Given the description of an element on the screen output the (x, y) to click on. 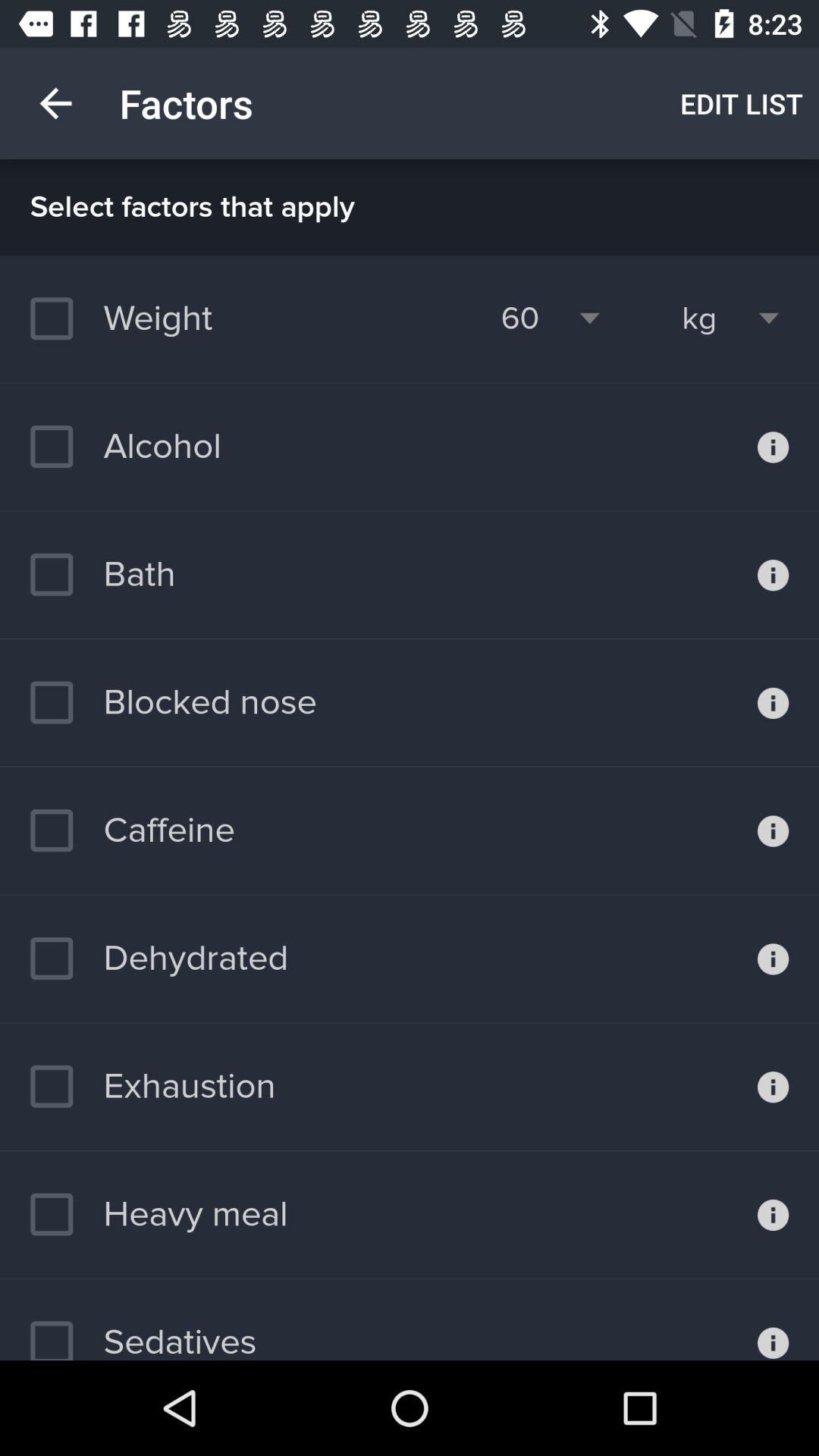
more information (773, 446)
